Given the description of an element on the screen output the (x, y) to click on. 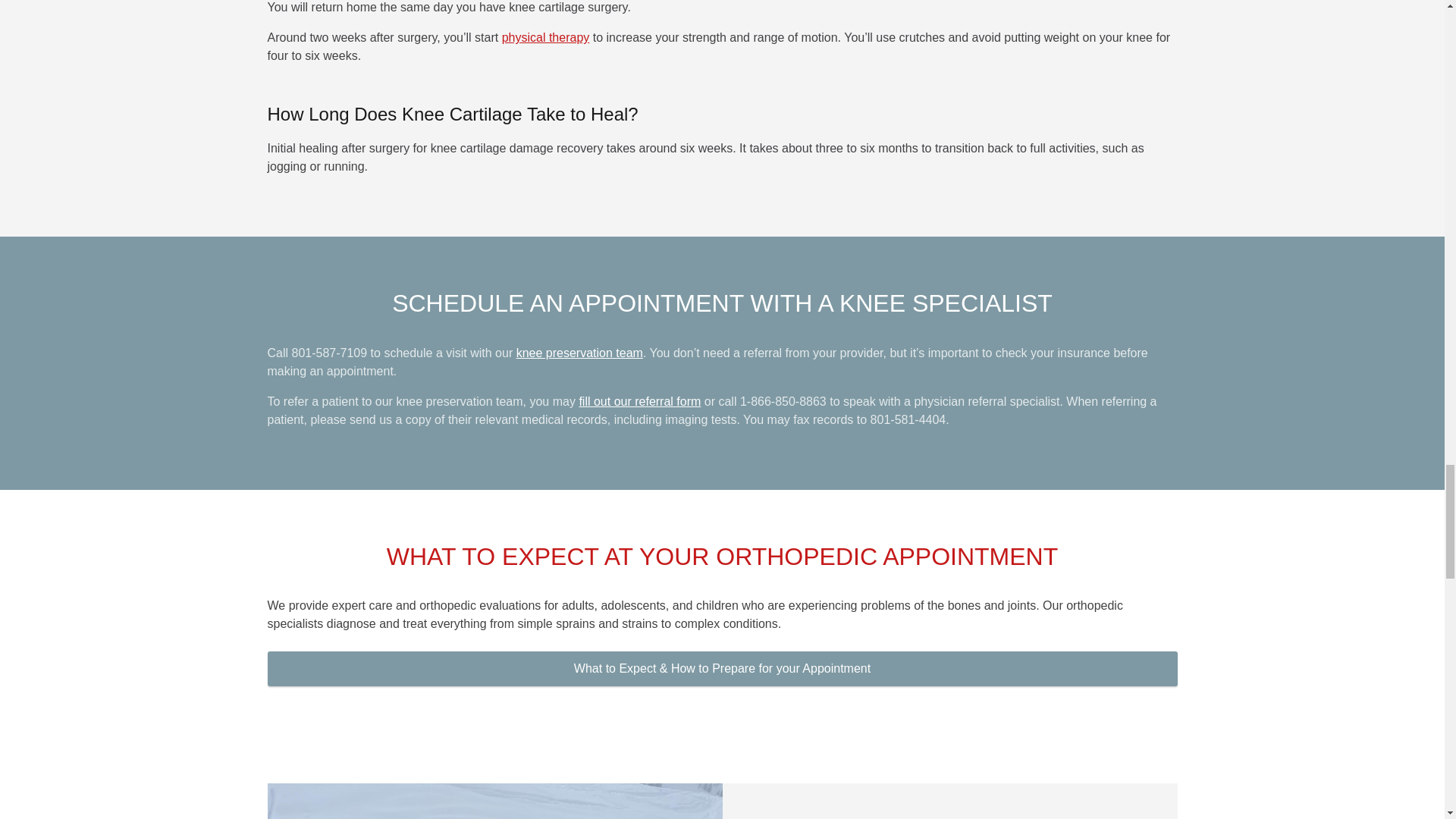
Knee Preservation (579, 352)
fill out our referral form (639, 400)
knee preservation team (579, 352)
Refer a Patient to Orthopaedic Services (639, 400)
physical therapy (545, 37)
